Given the description of an element on the screen output the (x, y) to click on. 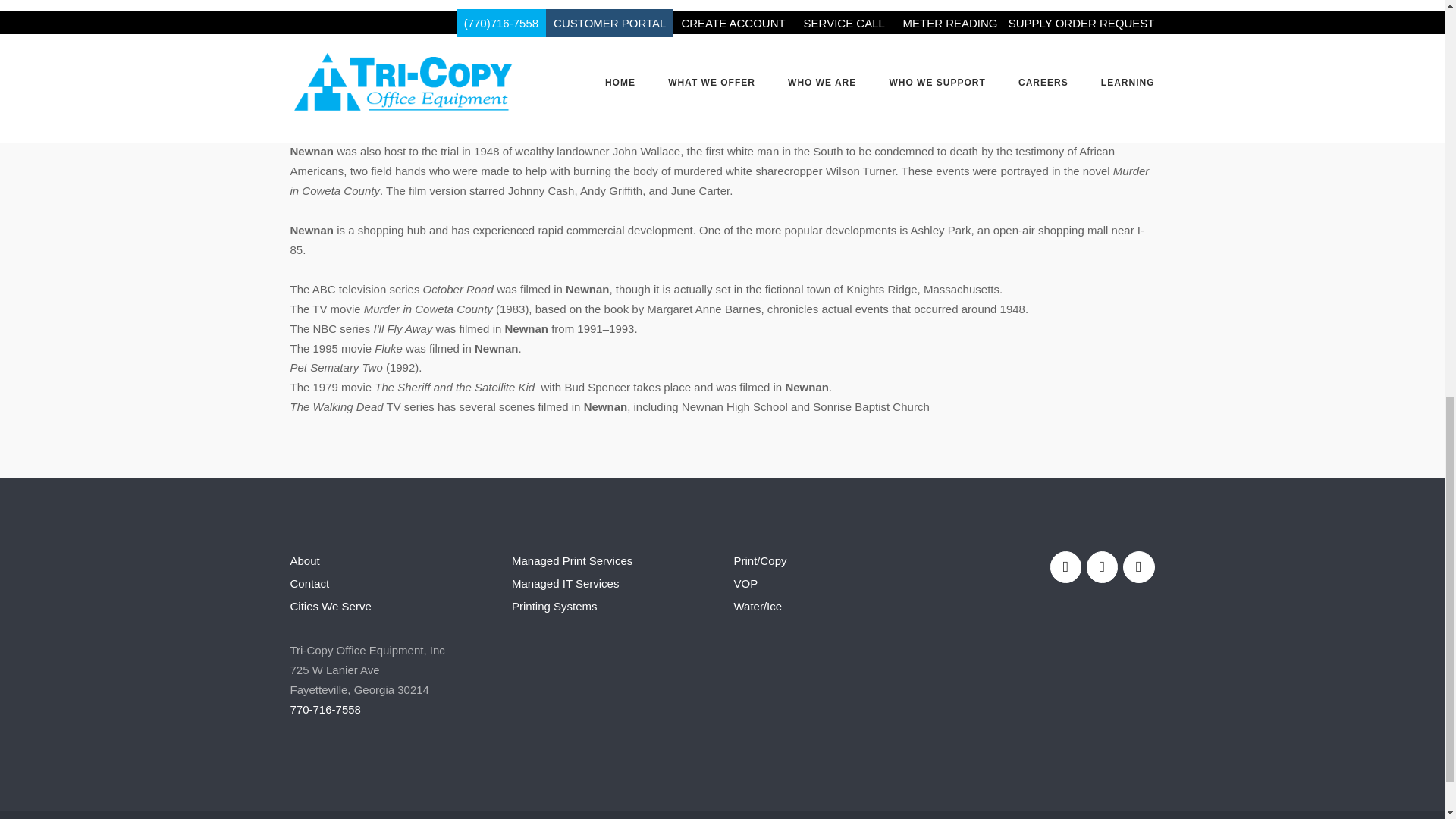
Contact (309, 583)
About (303, 560)
VOP (745, 583)
770-716-7558 (324, 708)
Managed IT Services (565, 583)
TriCopy on Linkedin (1102, 567)
TriCopy on Facebook (1065, 567)
TriCopy on X Twitter (1138, 567)
Printing Systems (554, 605)
Managed Print Services (571, 560)
Cities We Serve (330, 605)
